Given the description of an element on the screen output the (x, y) to click on. 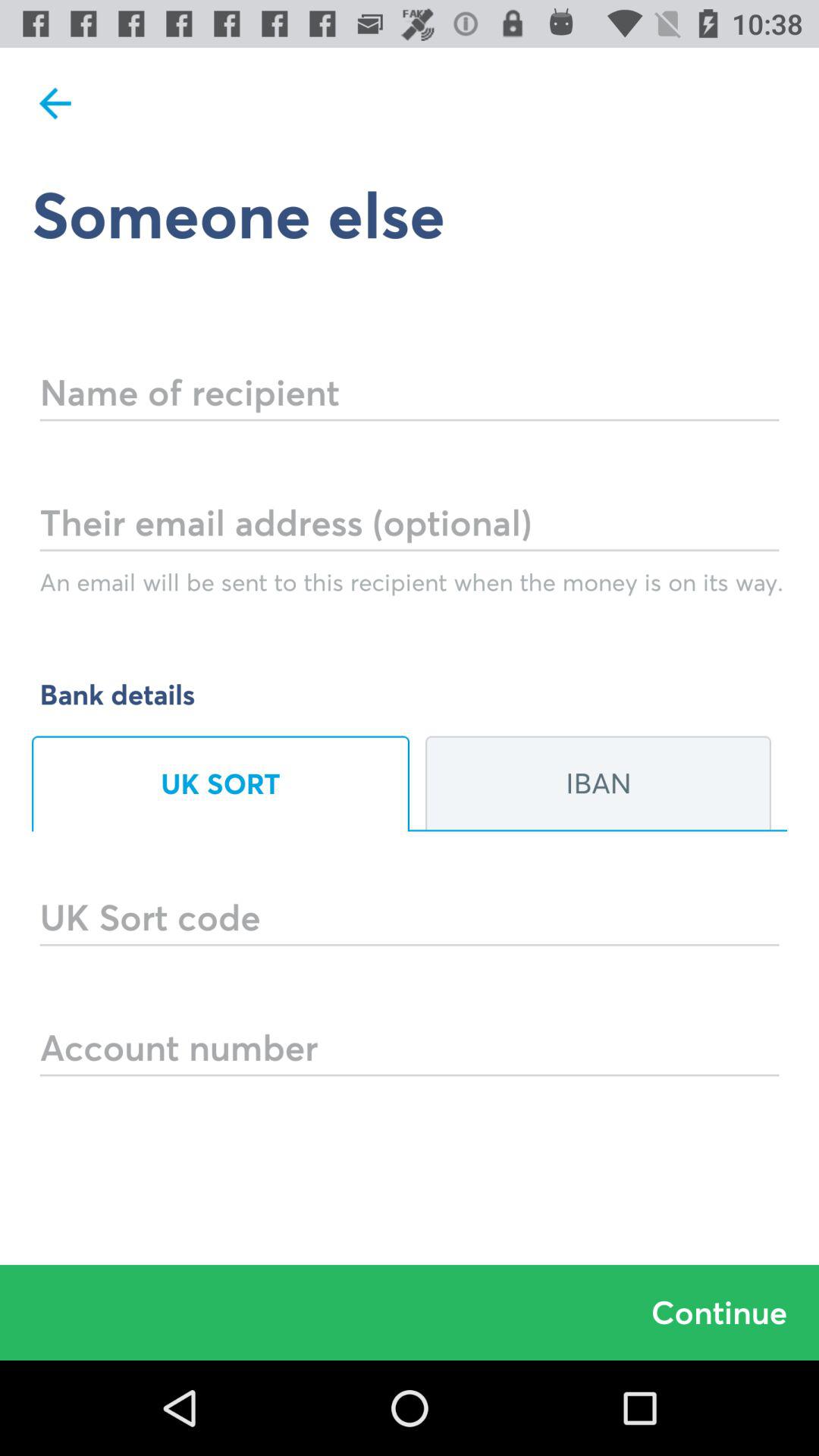
turn on item to the left of the iban icon (220, 783)
